Given the description of an element on the screen output the (x, y) to click on. 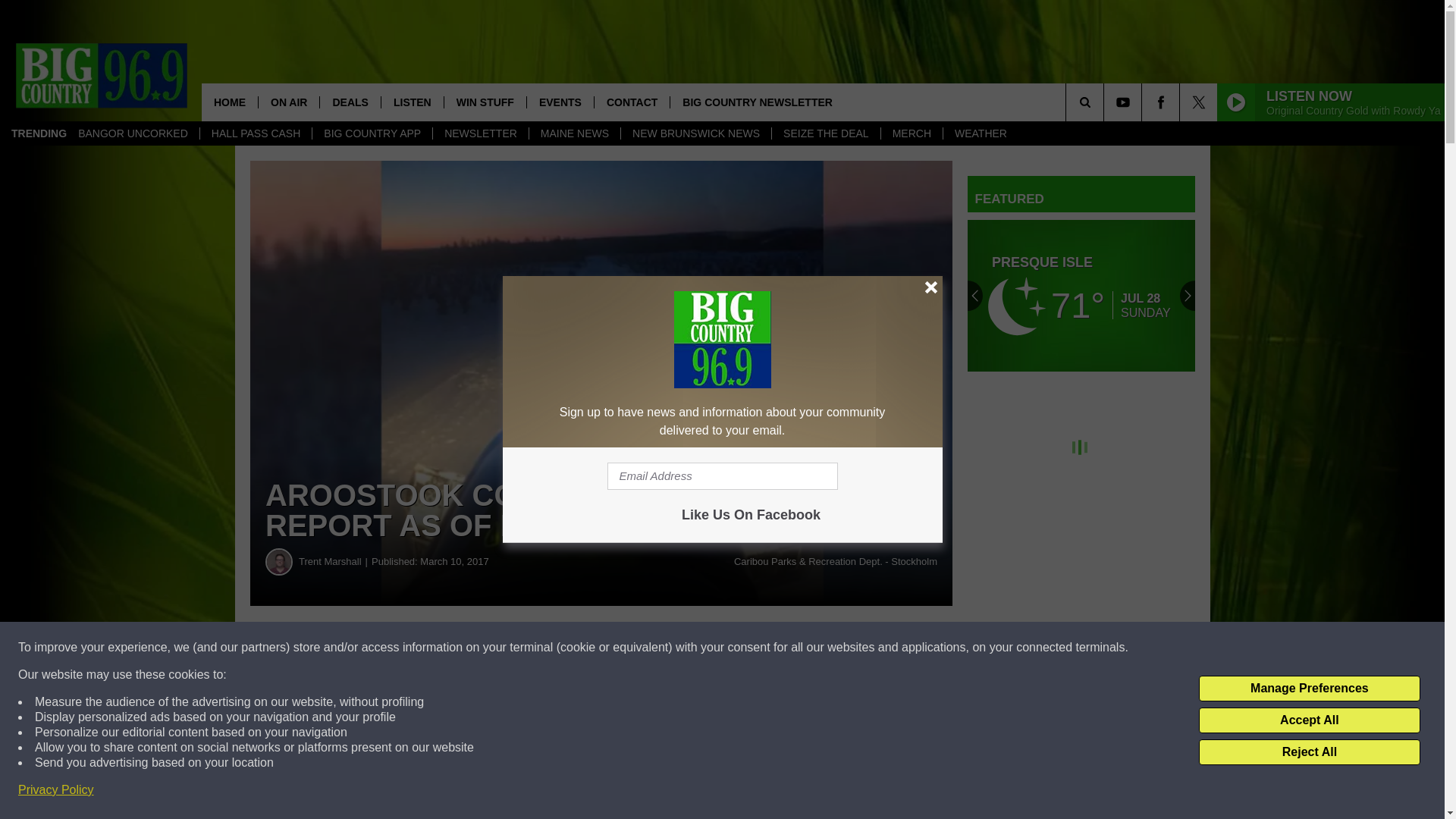
LISTEN (412, 102)
NEW BRUNSWICK NEWS (695, 133)
Email Address (722, 475)
MERCH (911, 133)
SEARCH (1106, 102)
BIG COUNTRY APP (371, 133)
ON AIR (287, 102)
Share on Twitter (741, 647)
Reject All (1309, 751)
CONTACT (631, 102)
NEWSLETTER (480, 133)
HOME (229, 102)
WIN STUFF (484, 102)
SEARCH (1106, 102)
EVENTS (559, 102)
